Given the description of an element on the screen output the (x, y) to click on. 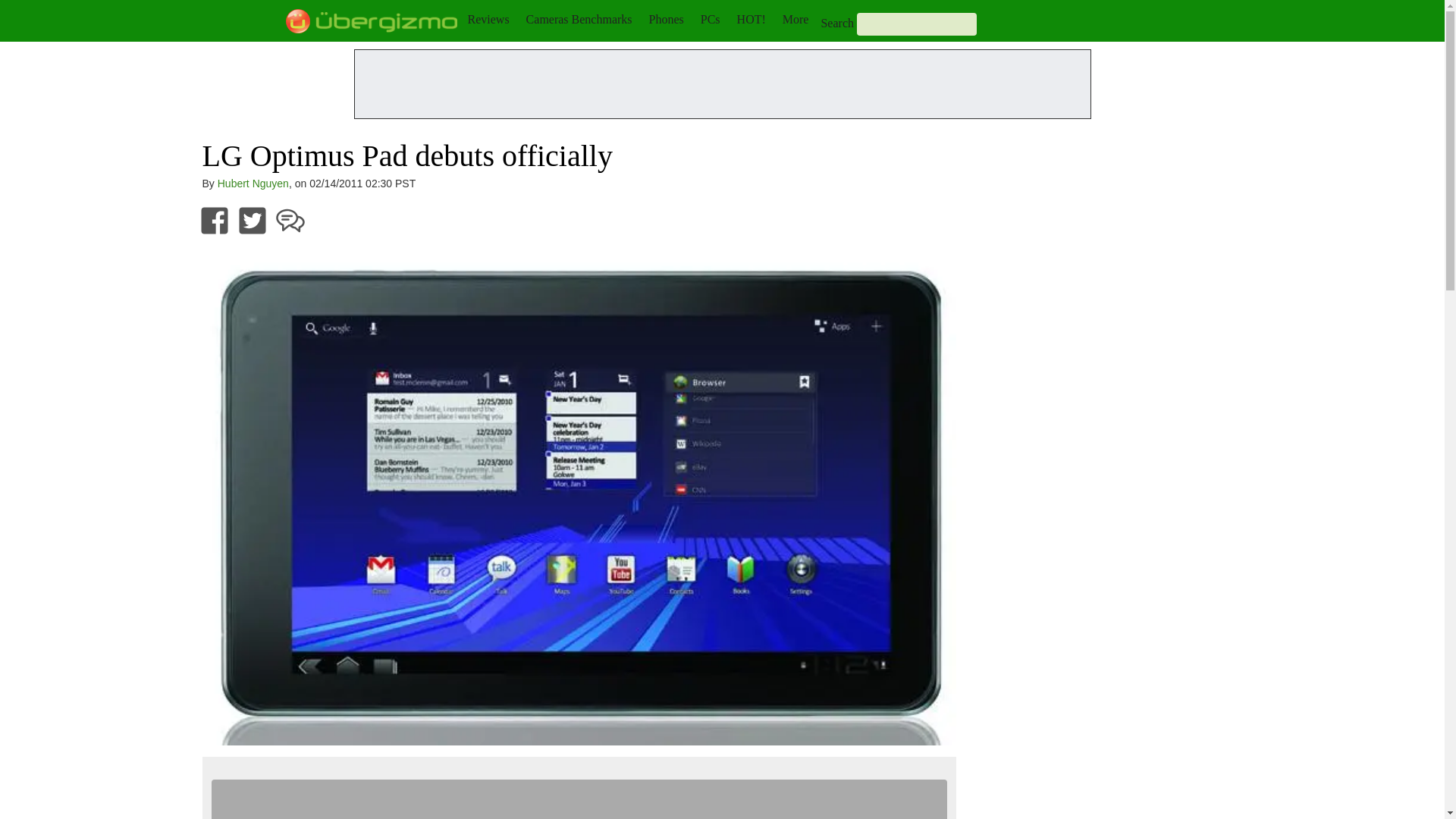
Cameras Benchmarks (578, 19)
PCs (710, 19)
Phones (666, 19)
Reviews (487, 19)
